Given the description of an element on the screen output the (x, y) to click on. 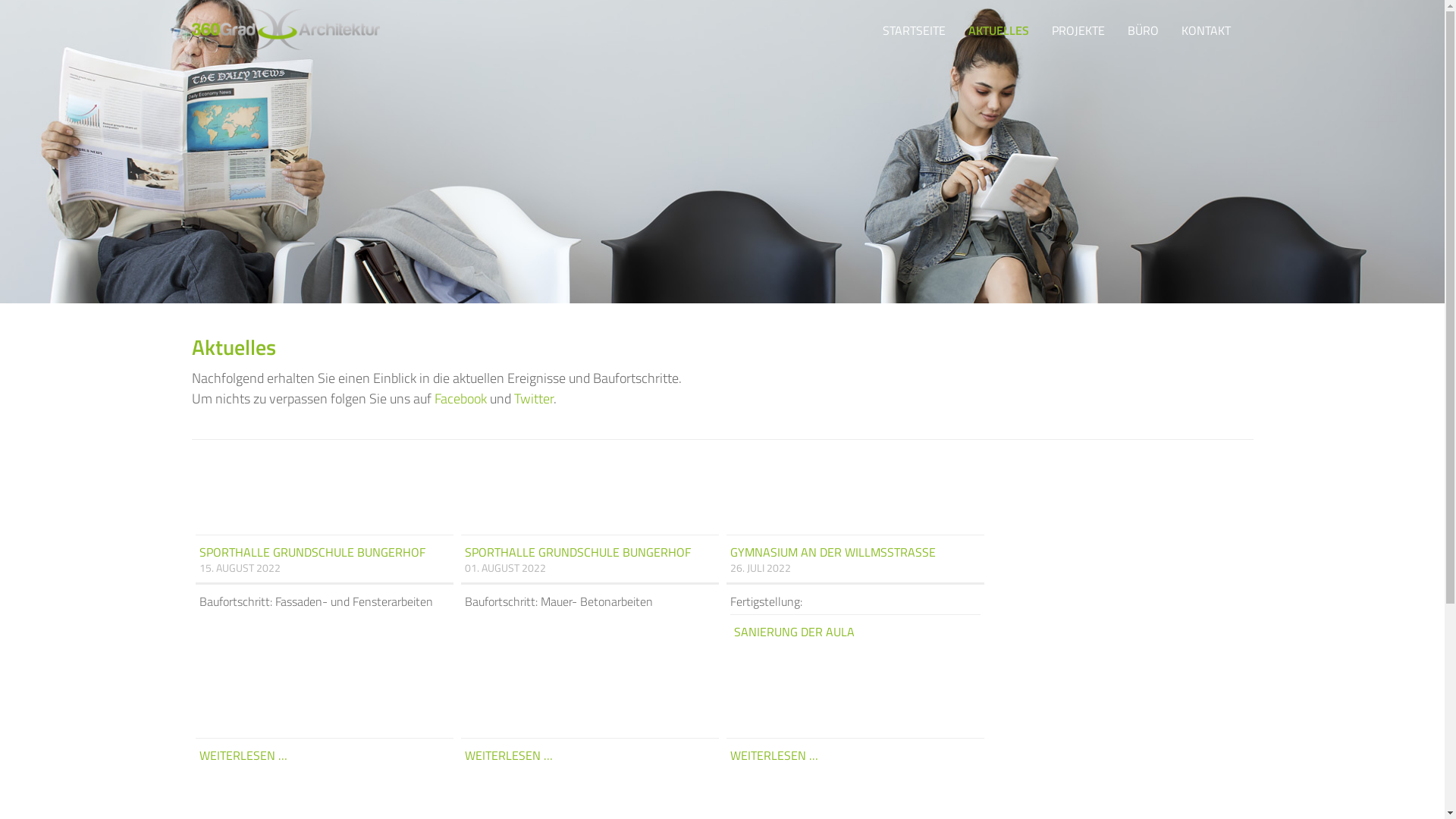
Twitter Element type: text (533, 398)
STARTSEITE Element type: text (913, 30)
GYMNASIUM AN DER WILLMSSTRASSE Element type: text (855, 547)
KONTAKT Element type: text (1205, 30)
SANIERUNG DER AULA Element type: text (854, 627)
SPORTHALLE GRUNDSCHULE BUNGERHOF Element type: text (324, 547)
SPORTHALLE GRUNDSCHULE BUNGERHOF Element type: text (589, 547)
PROJEKTE Element type: text (1077, 30)
Facebook Element type: text (459, 398)
